Given the description of an element on the screen output the (x, y) to click on. 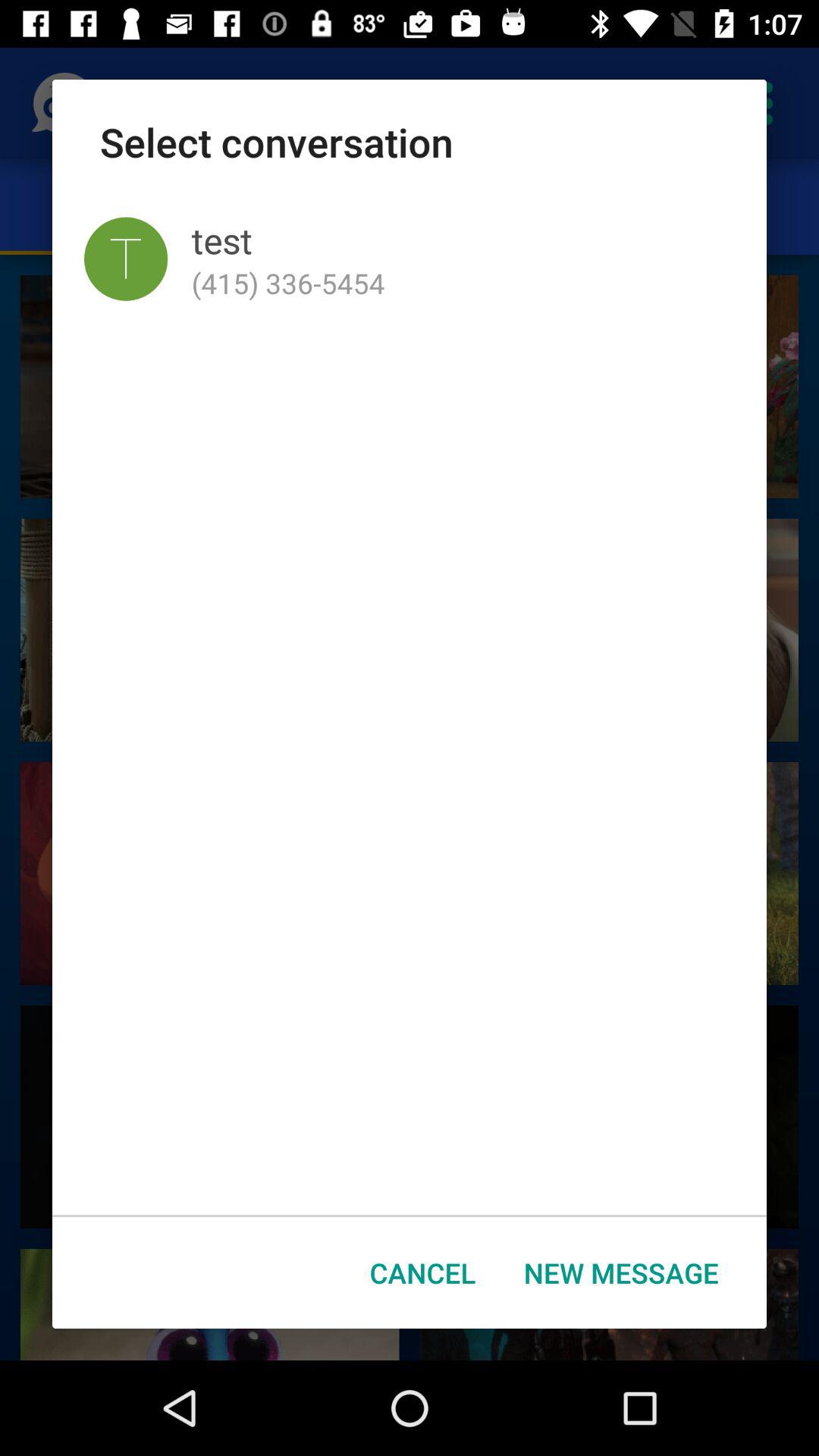
turn off item next to the test (125, 258)
